Given the description of an element on the screen output the (x, y) to click on. 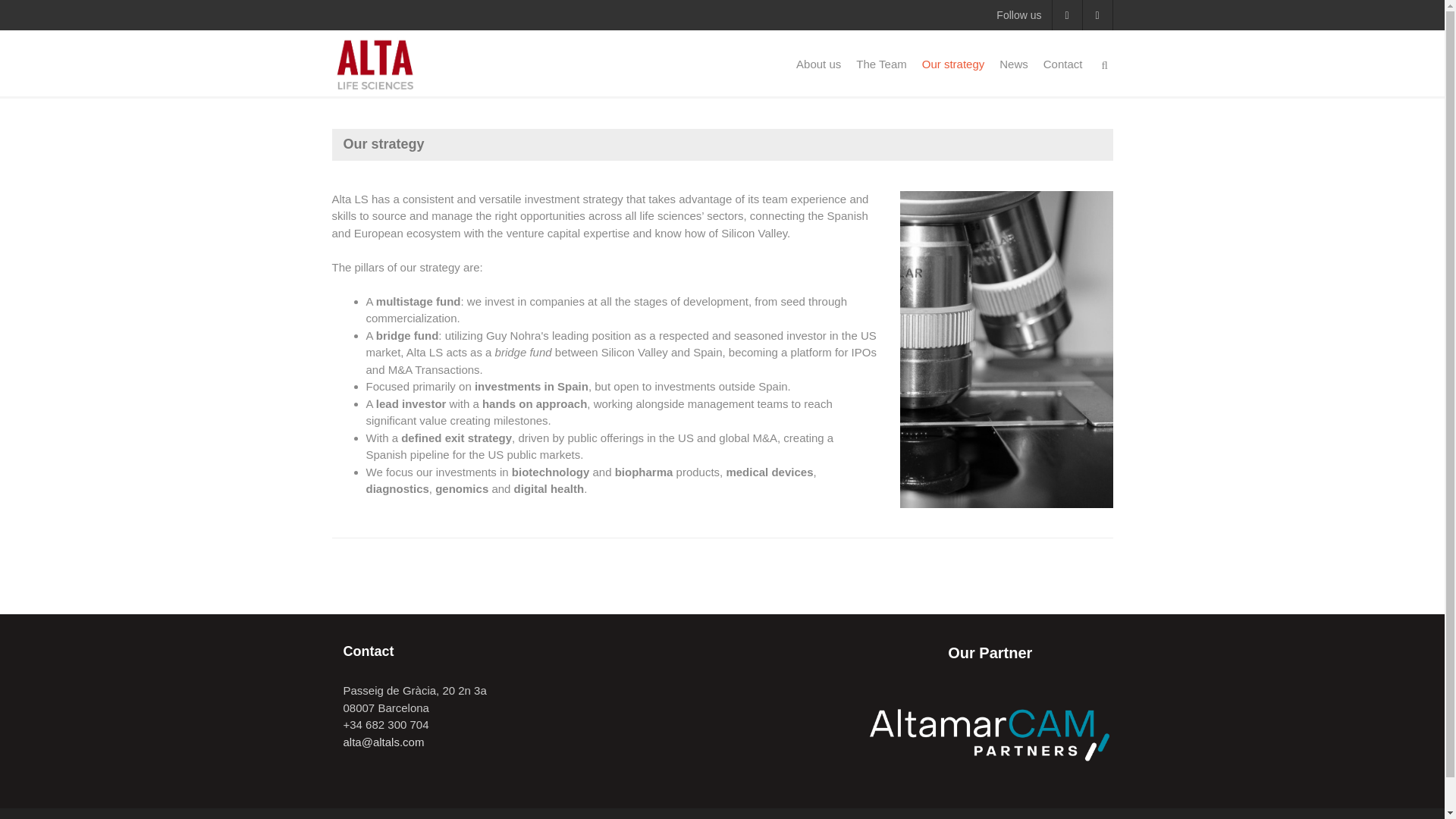
Our strategy (953, 64)
The Team (881, 64)
Alta Life Sciences (374, 61)
